Given the description of an element on the screen output the (x, y) to click on. 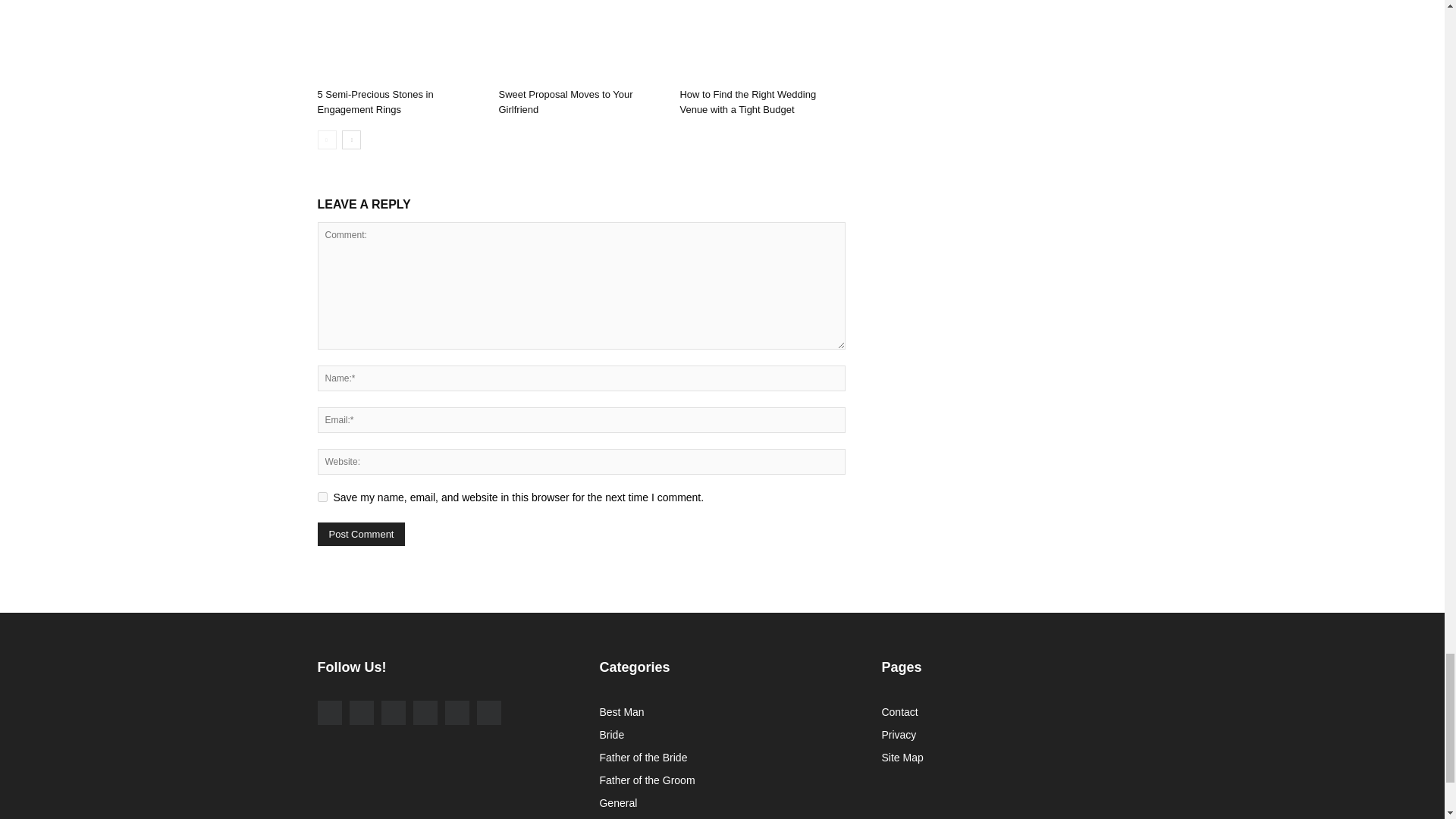
Follow Us on Facebook (328, 712)
Follow Us on Twitter (392, 712)
Sweet Proposal Moves to Your Girlfriend (580, 40)
5 Semi-Precious Stones in Engagement Rings (399, 40)
Sweet Proposal Moves to Your Girlfriend (564, 101)
Post Comment (360, 534)
5 Semi-Precious Stones in Engagement Rings (374, 101)
How to Find the Right Wedding Venue with a Tight Budget (761, 40)
How to Find the Right Wedding Venue with a Tight Budget (747, 101)
yes (321, 497)
